Given the description of an element on the screen output the (x, y) to click on. 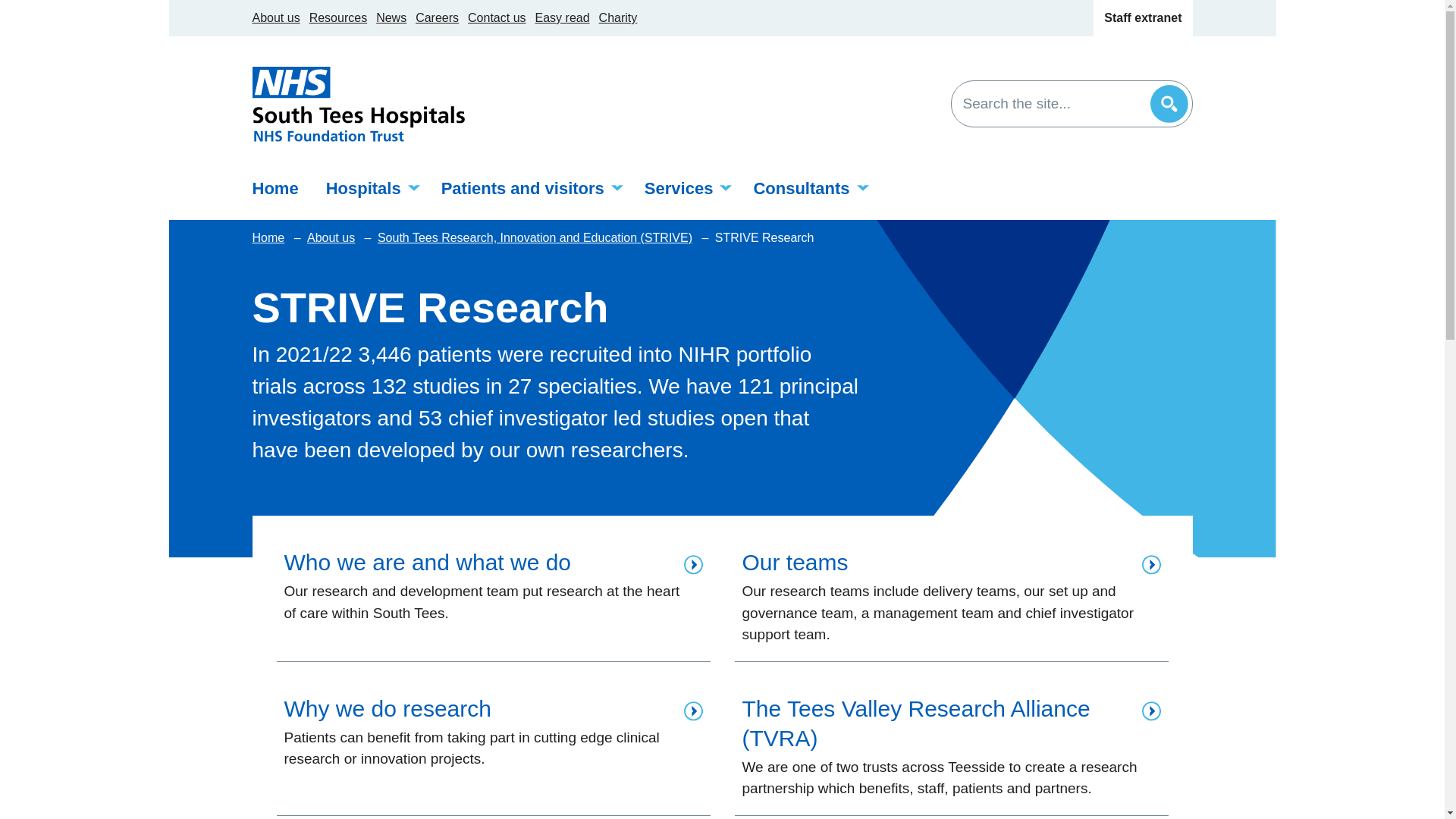
Go to South Tees Hospitals NHS Foundation Trust. (268, 238)
Resources (337, 18)
South Tees Hospitals NHS Foundation Trust Homepage (357, 103)
Home (281, 187)
Hospitals (370, 187)
Charity (617, 18)
About us (275, 18)
Go to About us. (332, 238)
Easy read (562, 18)
Patients and visitors (529, 187)
